Given the description of an element on the screen output the (x, y) to click on. 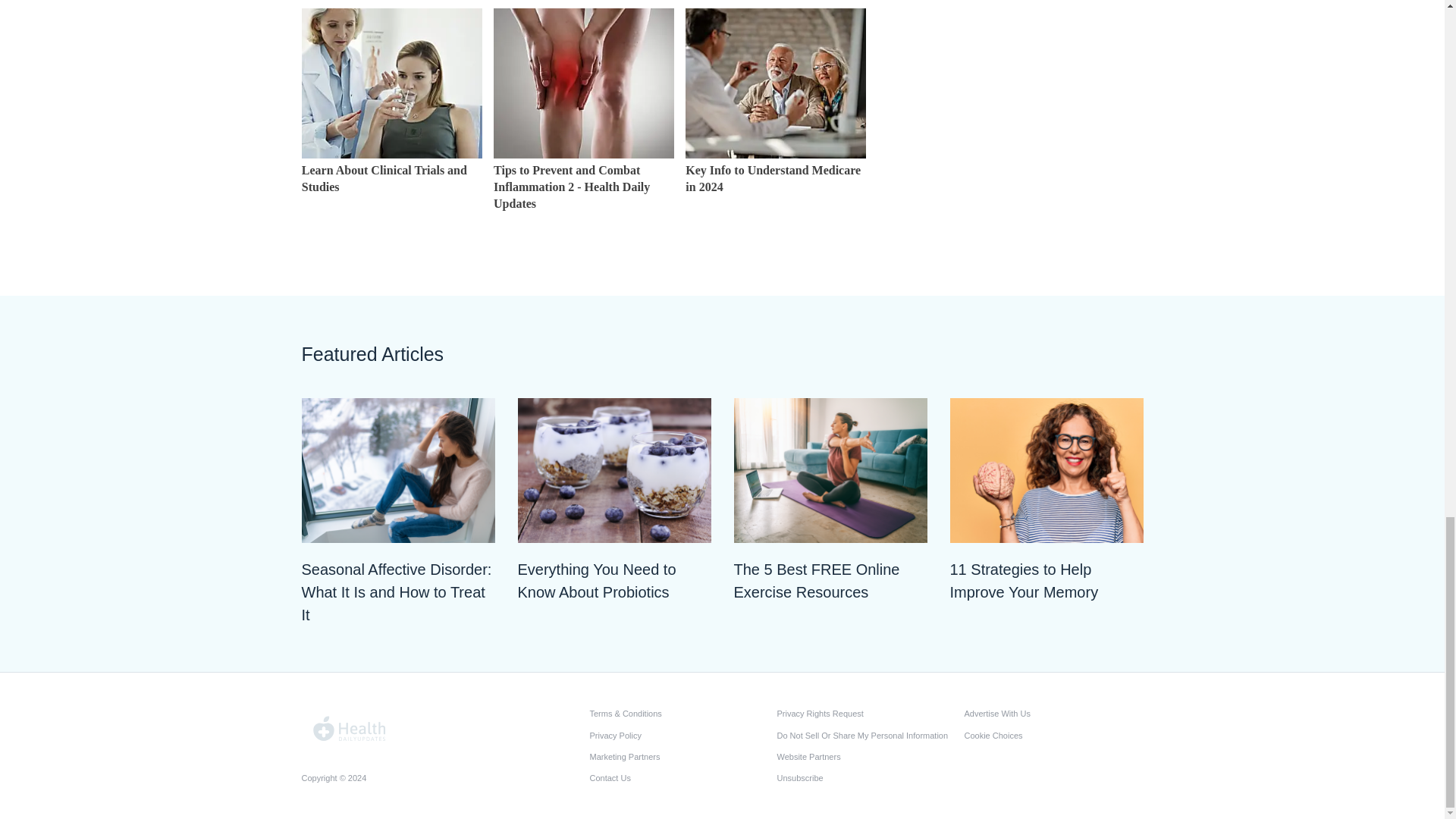
Seasonal Affective Disorder: What It Is and How to Treat It (398, 591)
Learn About Clinical Trials and Studies (391, 195)
Learn About Clinical Trials and Studies (391, 195)
Learn About Clinical Trials and Studies (391, 83)
Key Info to Understand Medicare in 2024 (775, 195)
